Given the description of an element on the screen output the (x, y) to click on. 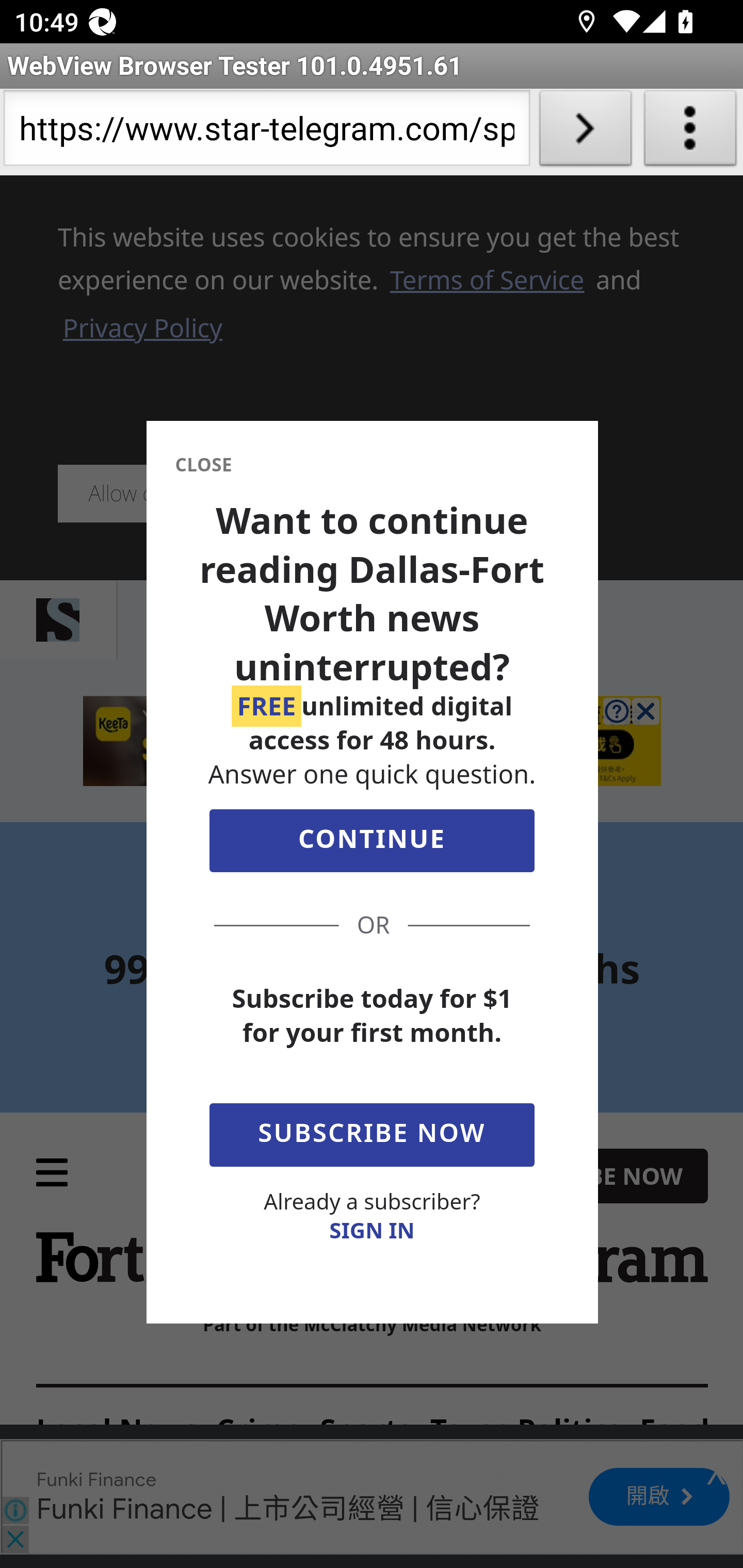
Load URL (585, 132)
About WebView (690, 132)
CLOSE (203, 464)
CONTINUE (371, 844)
SUBSCRIBE NOW (371, 1130)
SIGN IN (371, 1229)
